Given the description of an element on the screen output the (x, y) to click on. 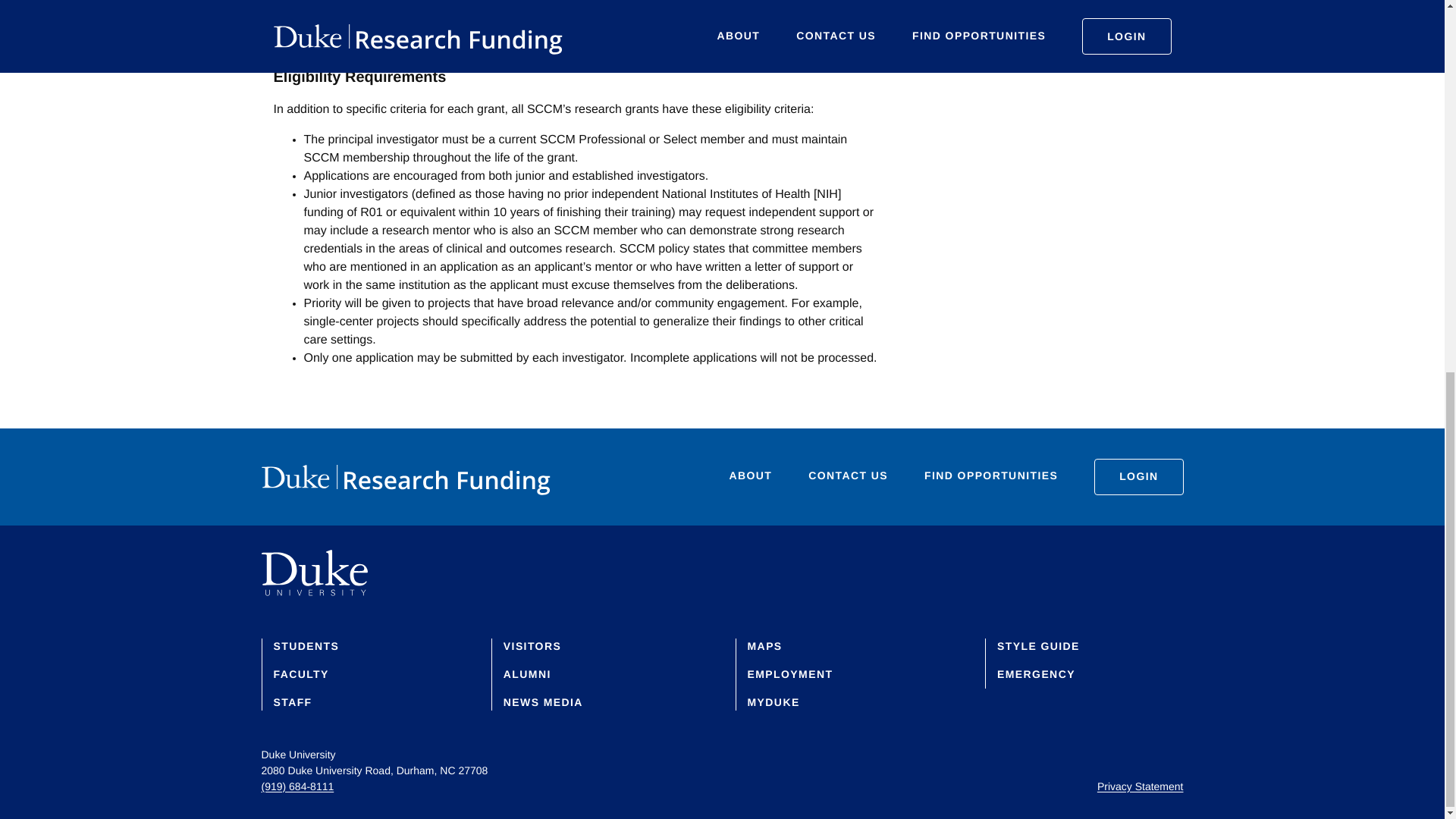
STUDENTS (306, 645)
EMERGENCY (1036, 674)
CONTACT US (848, 476)
EMPLOYMENT (790, 674)
MYDUKE (773, 702)
STYLE GUIDE (1038, 645)
MAPS (765, 645)
FACULTY (301, 674)
FIND OPPORTUNITIES (991, 476)
LOGIN (1138, 476)
ALUMNI (527, 674)
STAFF (292, 702)
NEWS MEDIA (543, 702)
ABOUT (751, 476)
VISITORS (531, 645)
